Given the description of an element on the screen output the (x, y) to click on. 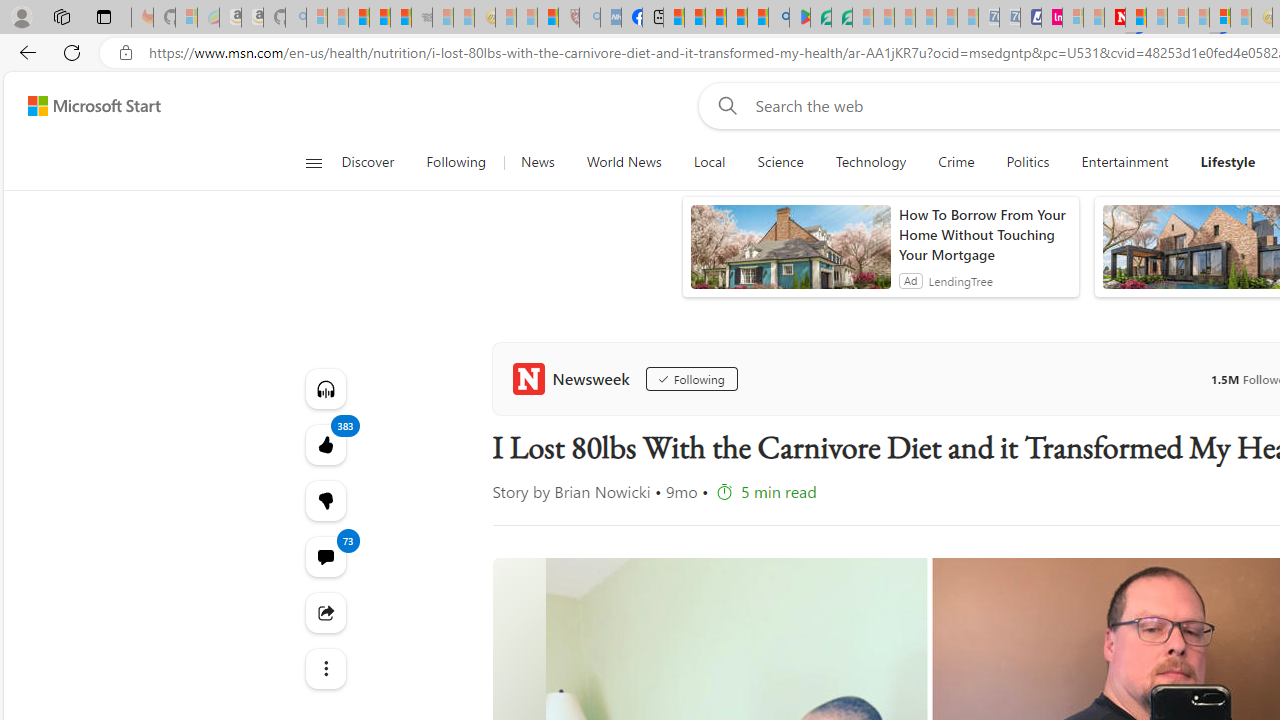
Class: button-glyph (313, 162)
Lifestyle (1227, 162)
Back (24, 52)
Crime (956, 162)
